Given the description of an element on the screen output the (x, y) to click on. 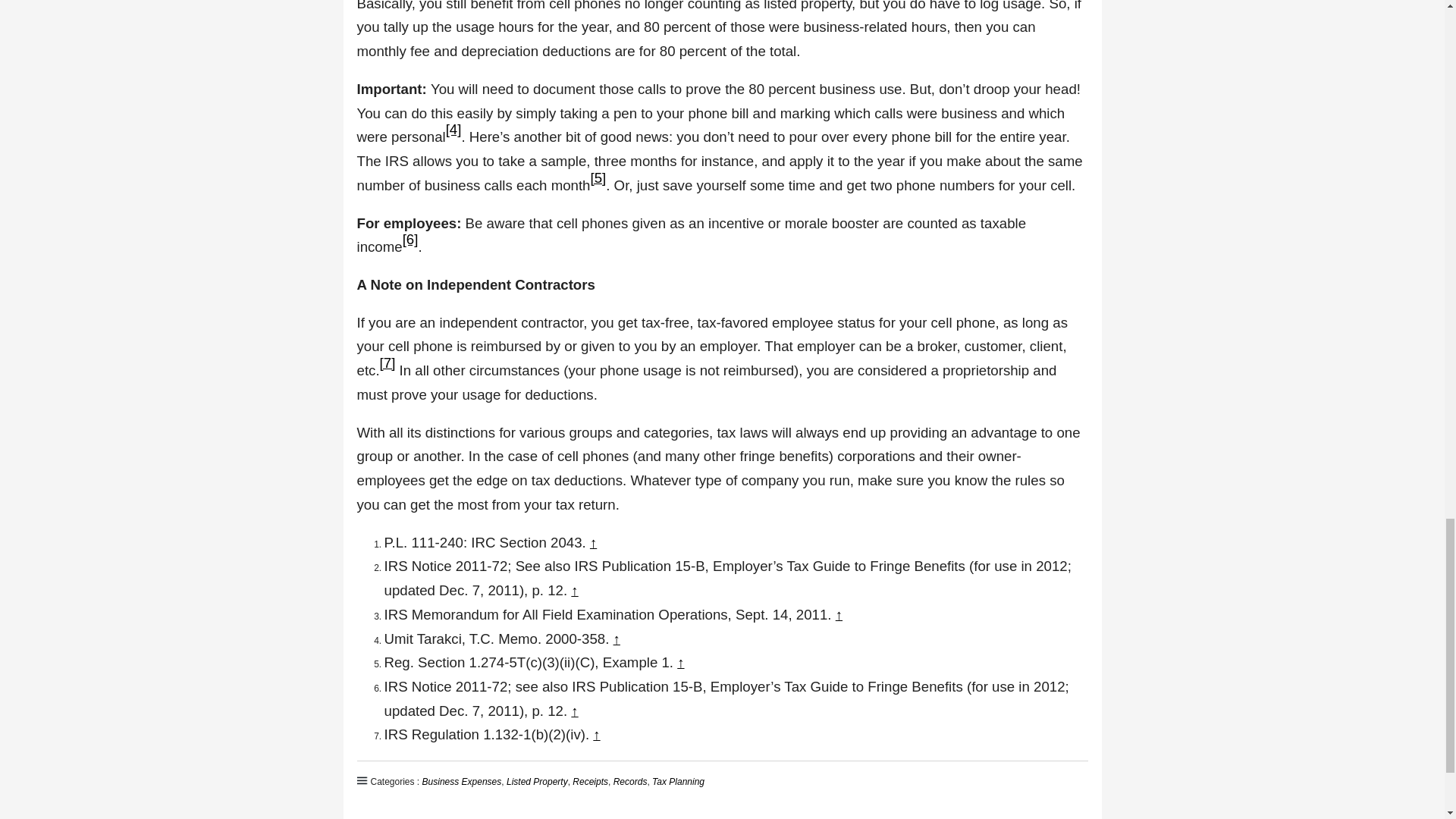
Tax Planning (678, 781)
Business Expenses (462, 781)
Records (629, 781)
Listed Property (536, 781)
Receipts (590, 781)
